Given the description of an element on the screen output the (x, y) to click on. 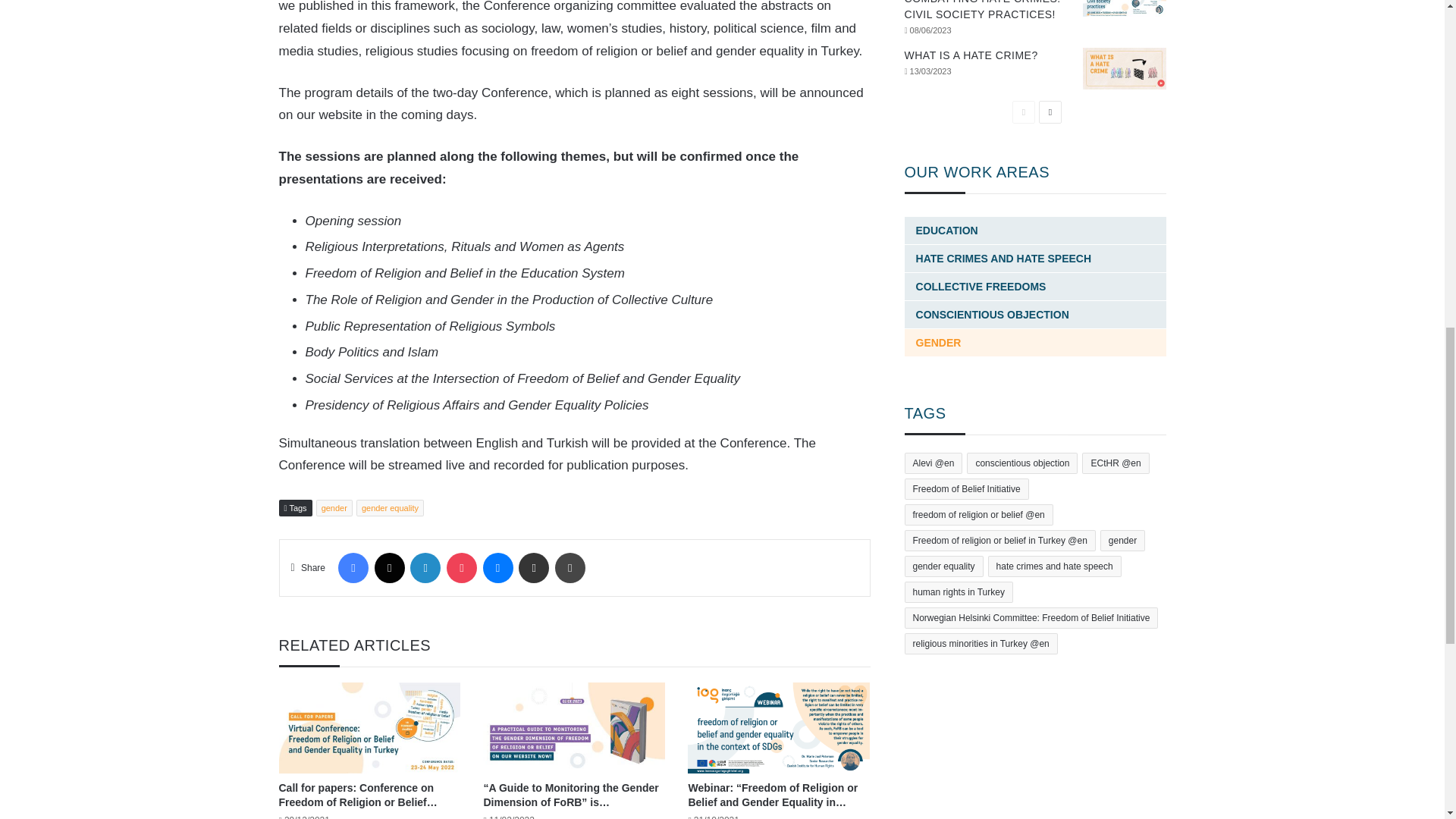
LinkedIn (425, 567)
Facebook (352, 567)
X (389, 567)
Messenger (496, 567)
Share via Email (533, 567)
Pocket (461, 567)
Print (569, 567)
